Given the description of an element on the screen output the (x, y) to click on. 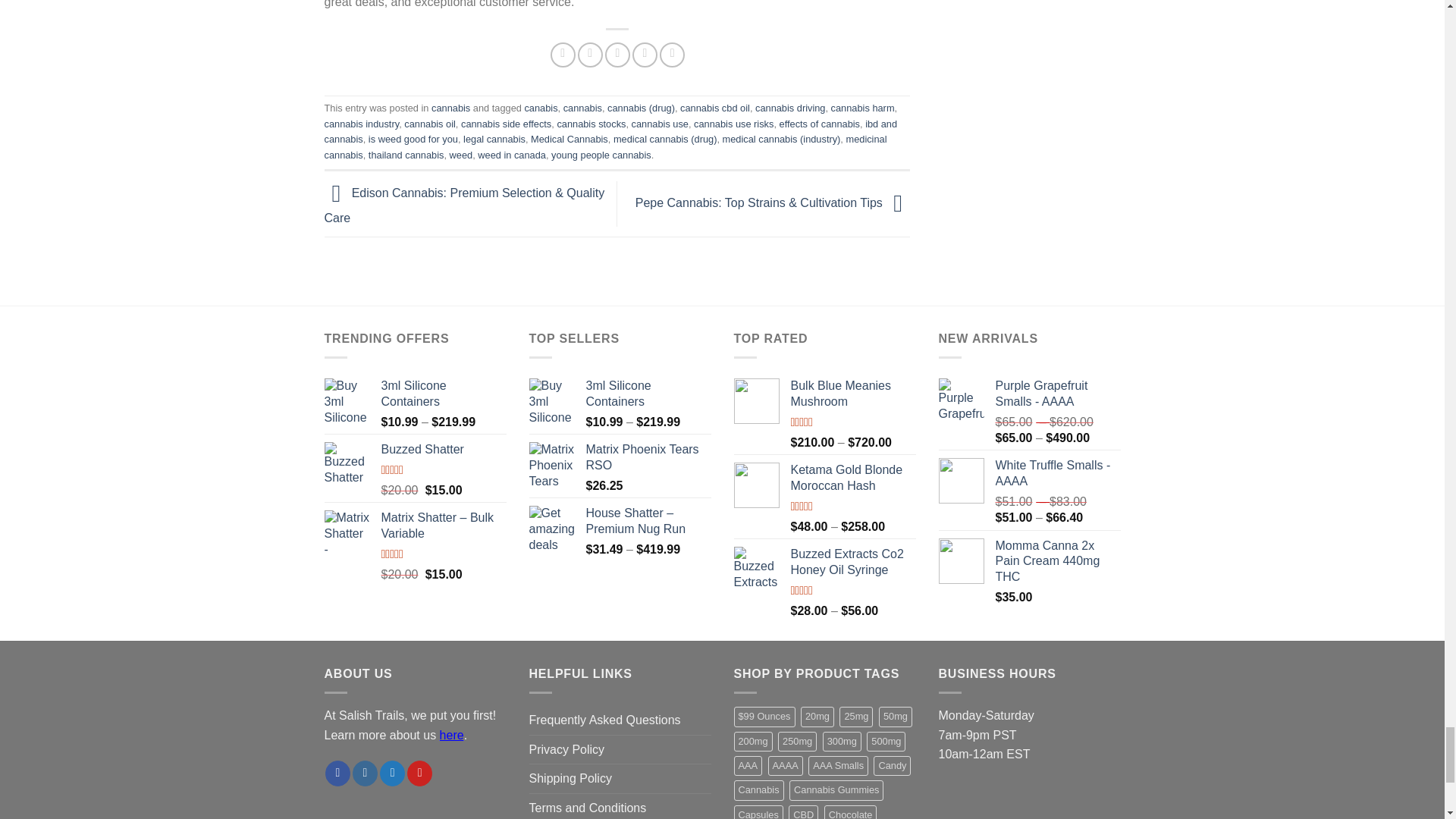
Pin on Pinterest (644, 54)
Share on LinkedIn (671, 54)
Email to a Friend (617, 54)
Share on Twitter (590, 54)
Share on Facebook (562, 54)
